Given the description of an element on the screen output the (x, y) to click on. 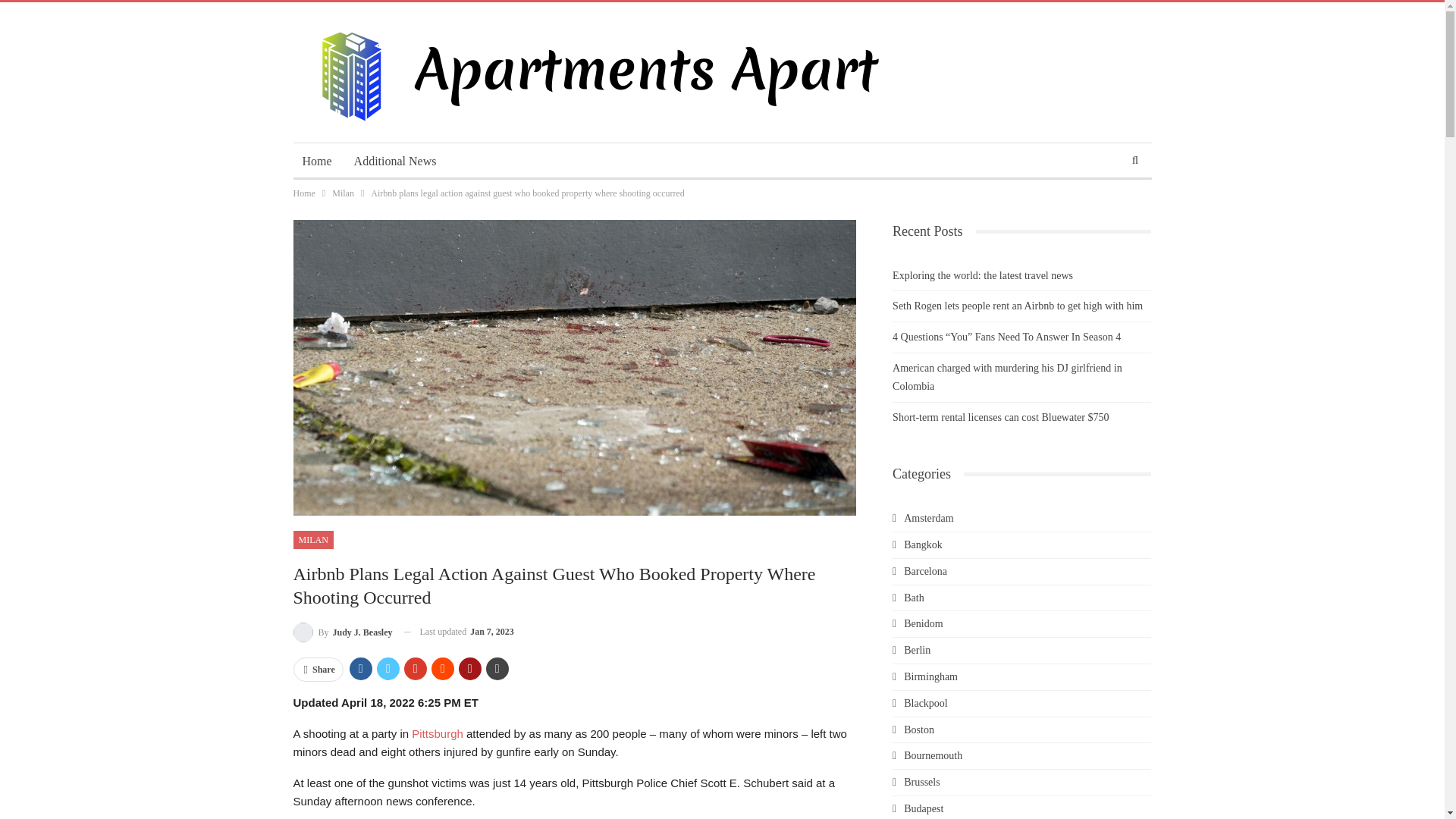
Additional News (395, 161)
Home (316, 161)
Pittsburgh (437, 733)
Milan (342, 193)
By Judy J. Beasley (341, 631)
Home (303, 193)
Browse Author Articles (341, 631)
MILAN (312, 539)
Pittsburgh (437, 733)
